Given the description of an element on the screen output the (x, y) to click on. 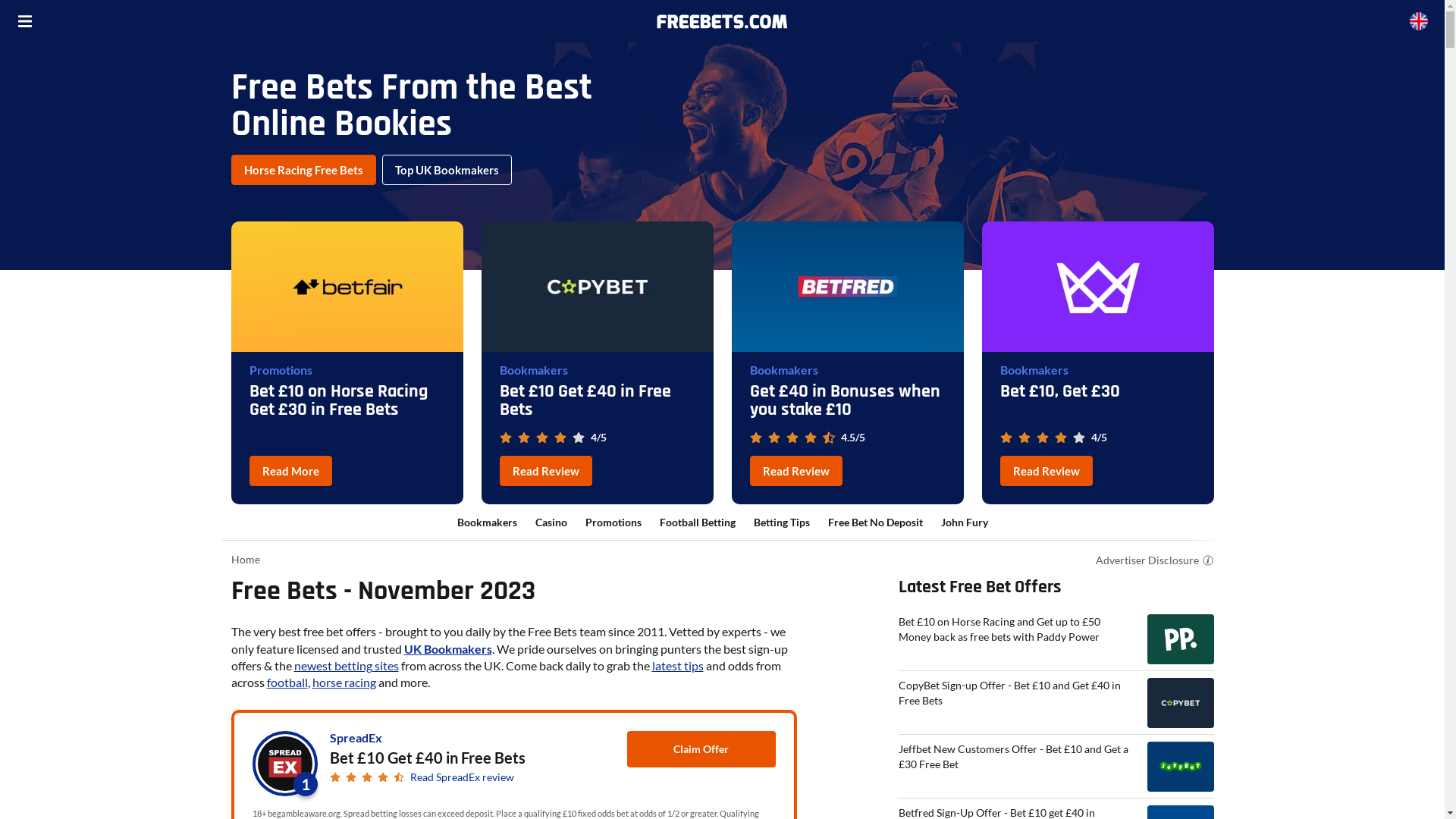
UK Bookmakers Element type: text (447, 648)
Read Review Element type: text (795, 470)
Horse Racing Free Bets Element type: text (302, 169)
Read Review Element type: text (1045, 470)
horse racing Element type: text (344, 681)
Promotions Element type: text (613, 522)
newest betting sites Element type: text (346, 665)
Bookmakers Element type: text (783, 370)
Advertiser Disclosure Element type: text (1146, 559)
Read Review Element type: text (544, 470)
Free Bet No Deposit Element type: text (875, 522)
football Element type: text (286, 681)
Read More Element type: text (289, 470)
Claim Offer Element type: text (700, 749)
latest tips Element type: text (677, 665)
Casino Element type: text (551, 522)
Betting Tips Element type: text (781, 522)
Bookmakers Element type: text (486, 522)
Home Element type: text (244, 558)
Bookmakers Element type: text (1033, 370)
Top UK Bookmakers Element type: text (446, 169)
SpreadEx Element type: text (355, 737)
John Fury Element type: text (963, 522)
Promotions Element type: text (279, 370)
Read SpreadEx review Element type: text (461, 777)
Football Betting Element type: text (697, 522)
FreeBets Logo Element type: hover (721, 21)
Bookmakers Element type: text (532, 370)
